Given the description of an element on the screen output the (x, y) to click on. 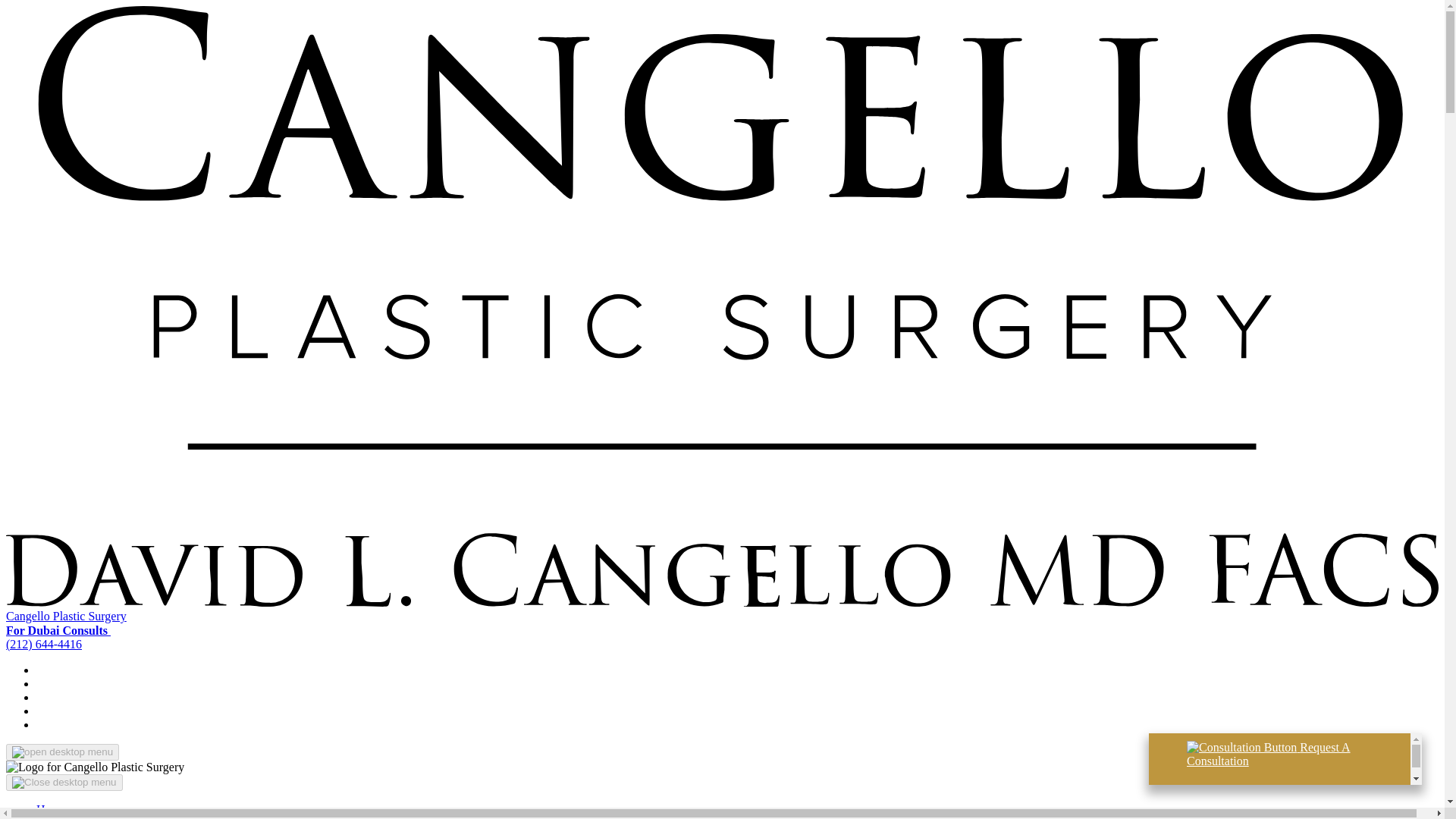
Home (50, 809)
Dr. Cangello (67, 817)
Cangello Plastic Surgery (65, 615)
For Dubai Consults (63, 630)
